Given the description of an element on the screen output the (x, y) to click on. 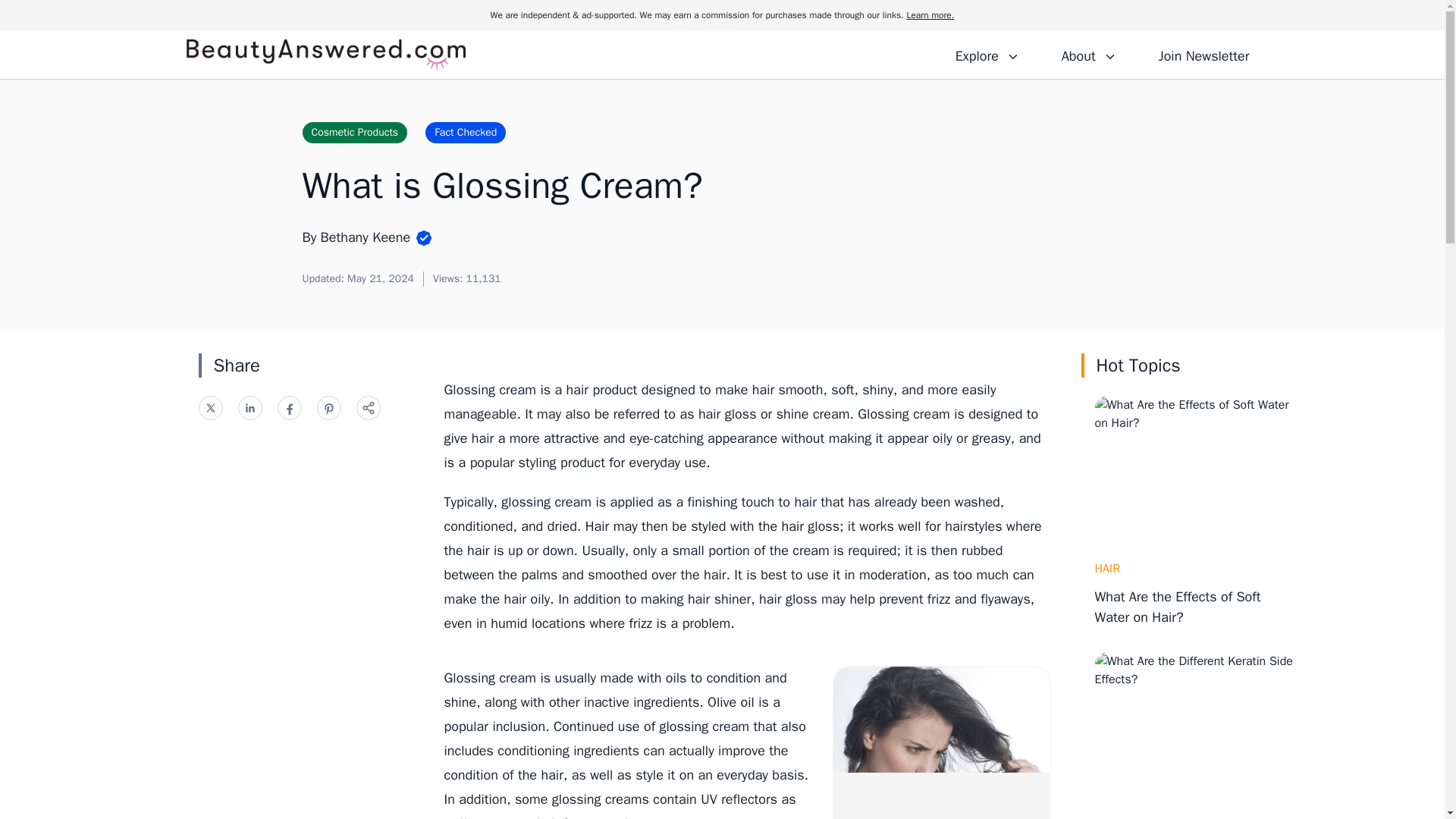
Learn more. (929, 15)
About (1088, 54)
Cosmetic Products (354, 132)
Fact Checked (465, 132)
Join Newsletter (1202, 54)
Explore (986, 54)
